Given the description of an element on the screen output the (x, y) to click on. 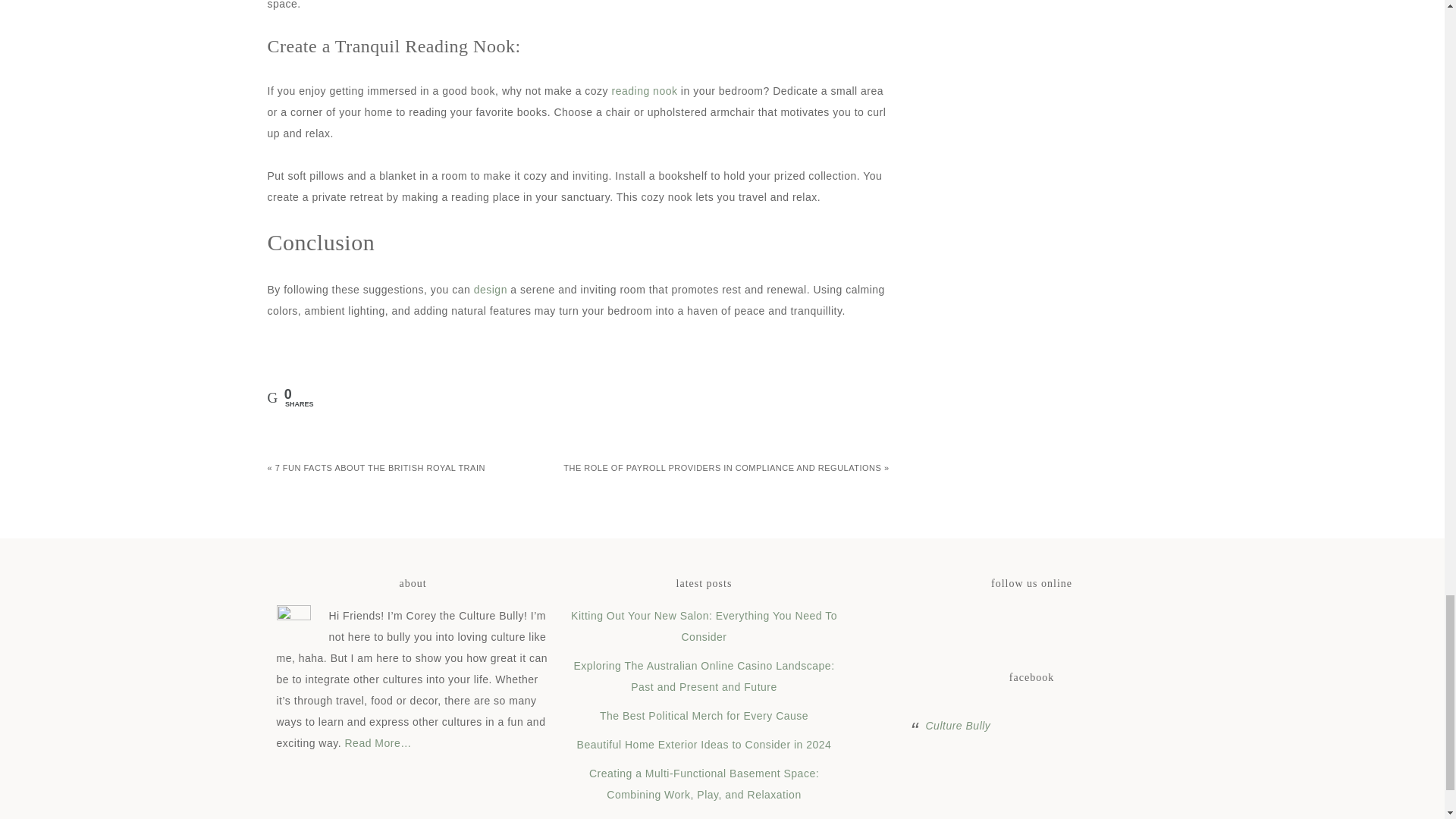
Culture Bully (957, 725)
Kitting Out Your New Salon: Everything You Need To Consider (703, 625)
design (490, 289)
reading nook (644, 91)
Beautiful Home Exterior Ideas to Consider in 2024 (703, 744)
The Best Political Merch for Every Cause (703, 715)
